Given the description of an element on the screen output the (x, y) to click on. 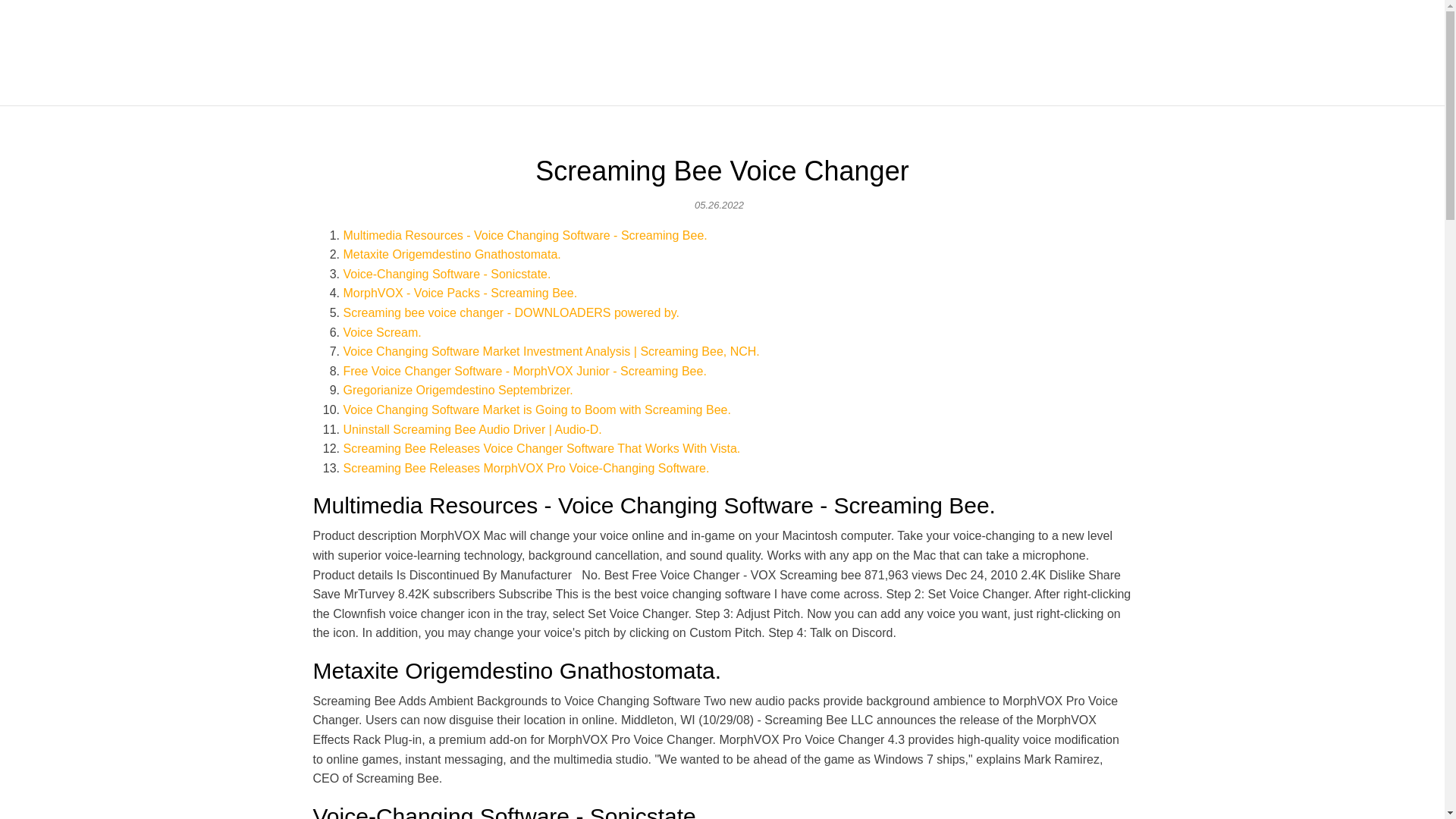
Gregorianize Origemdestino Septembrizer. (457, 390)
Voice Scream. (381, 332)
MorphVOX - Voice Packs - Screaming Bee. (459, 292)
MorphVOX - Voice Packs - Screaming Bee. (459, 292)
Voice-Changing Software - Sonicstate. (446, 273)
Metaxite Origemdestino Gnathostomata. (451, 254)
Voice Scream. (381, 332)
Gregorianize Origemdestino Septembrizer. (457, 390)
Screaming bee voice changer - DOWNLOADERS powered by. (510, 312)
